Given the description of an element on the screen output the (x, y) to click on. 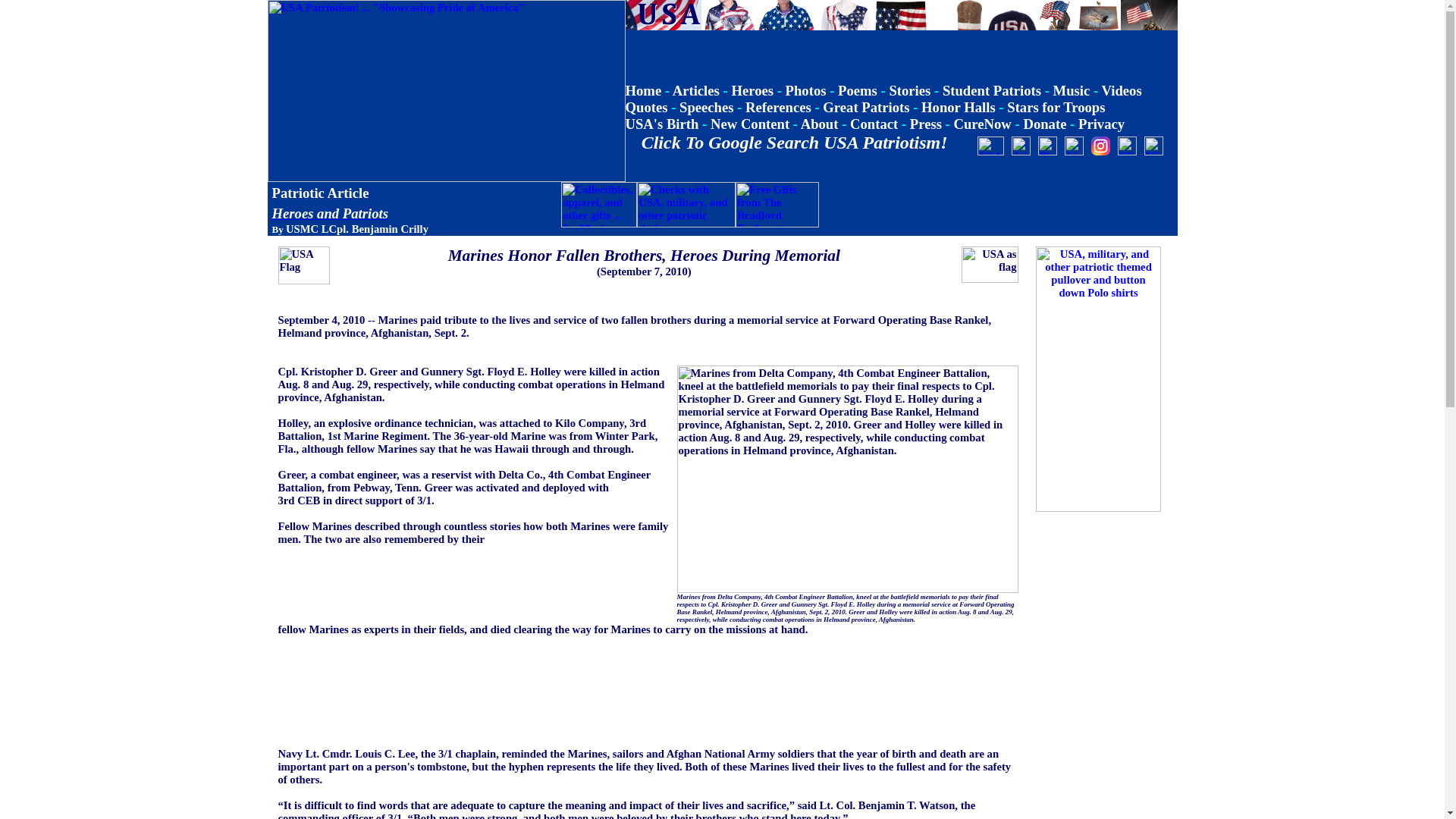
Heroes (751, 90)
Photos (806, 90)
Honor Halls (958, 107)
Great Patriots (865, 107)
Privacy (1101, 123)
About (819, 123)
Student Patriots (991, 90)
Stories (909, 90)
Stars for Troops (1056, 107)
Donate (1044, 123)
Articles (695, 90)
Contact (874, 123)
Speeches (706, 107)
Music (1071, 90)
New Content (749, 123)
